Given the description of an element on the screen output the (x, y) to click on. 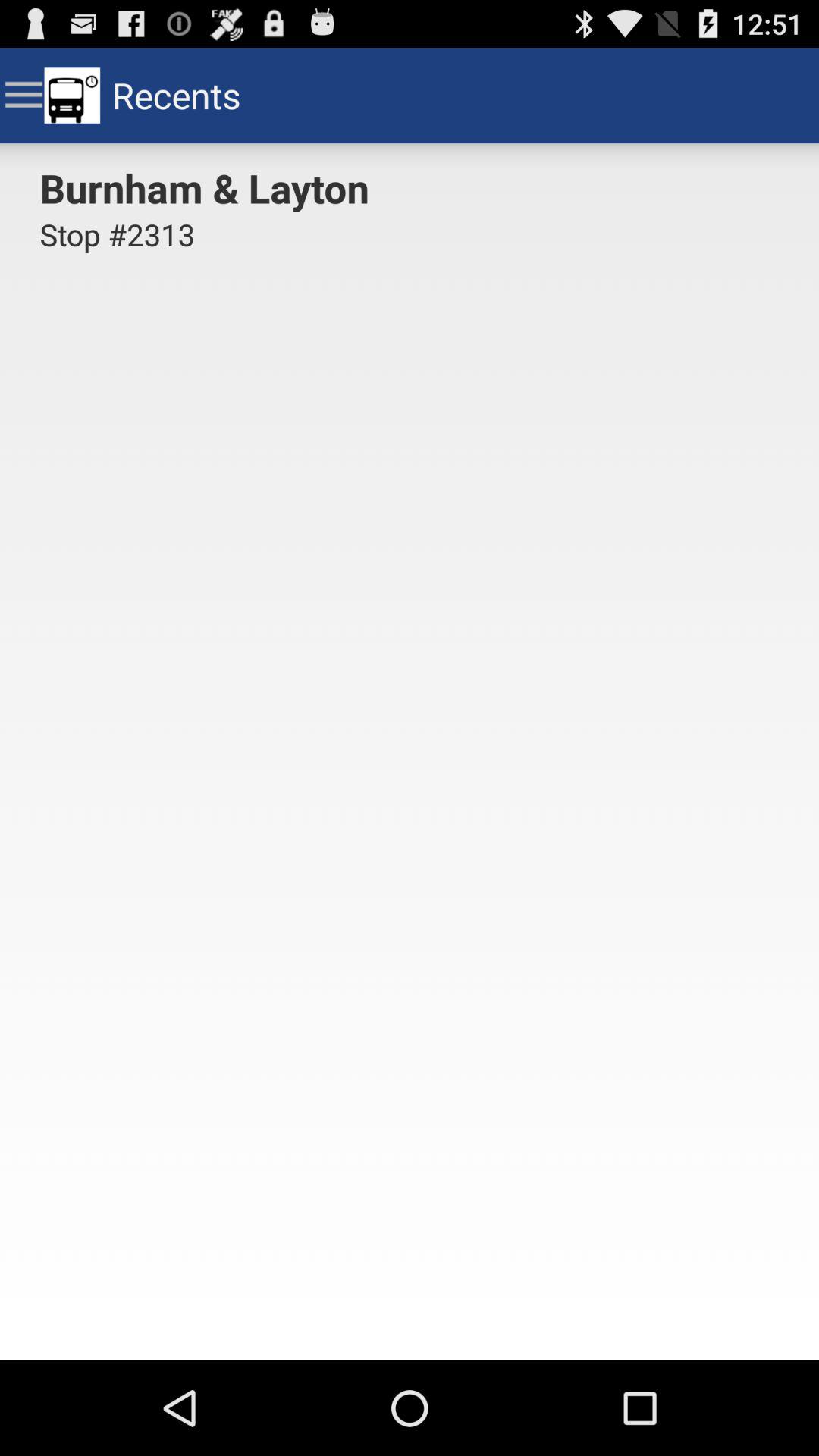
scroll to burnham & layton  app (208, 187)
